Given the description of an element on the screen output the (x, y) to click on. 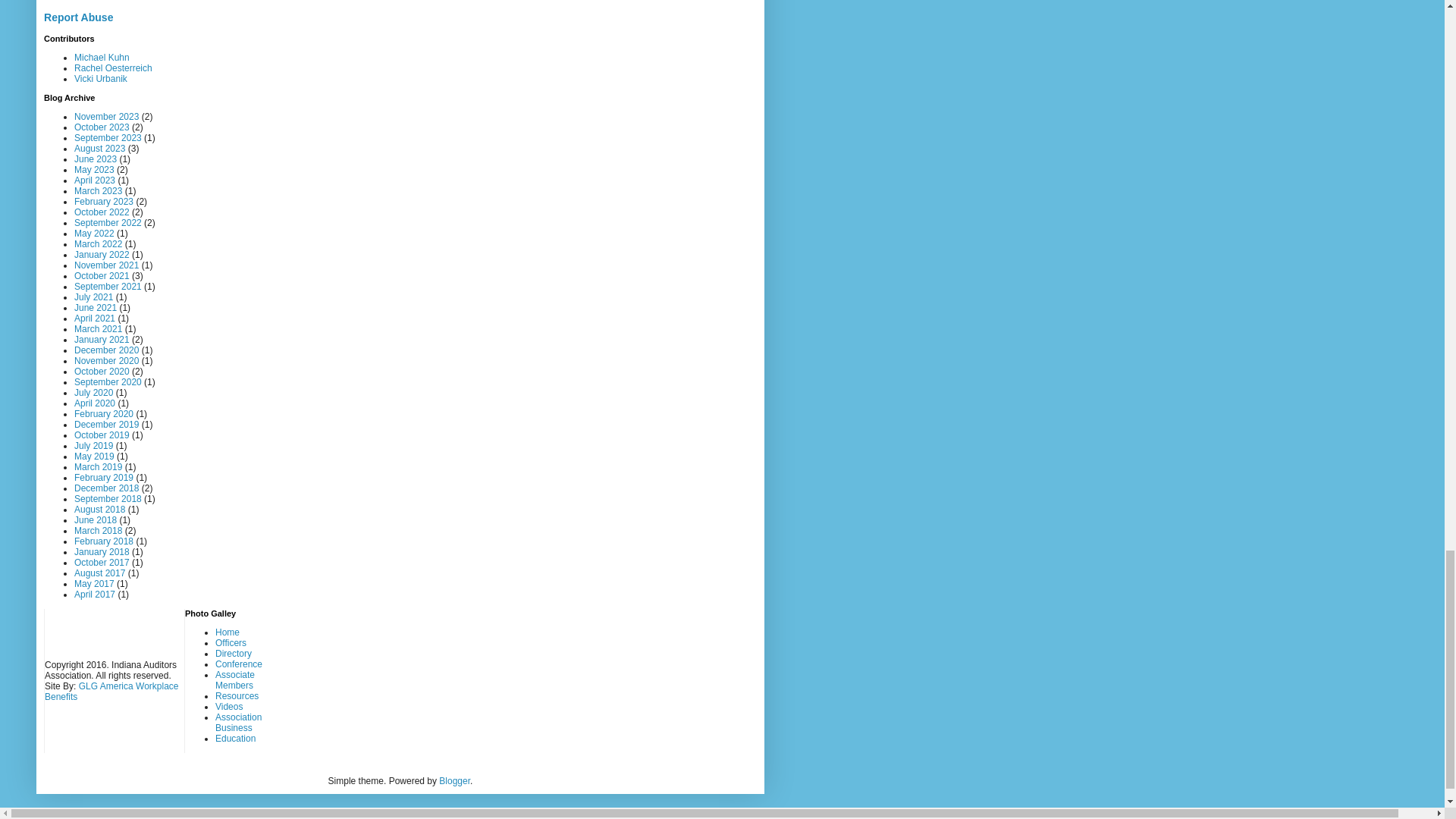
Vicki Urbanik (101, 78)
June 2023 (95, 158)
August 2023 (99, 148)
October 2023 (101, 127)
March 2023 (98, 190)
April 2023 (94, 180)
Michael Kuhn (101, 57)
May 2023 (94, 169)
Report Abuse (78, 17)
Rachel Oesterreich (113, 68)
November 2023 (106, 116)
September 2023 (107, 137)
